Given the description of an element on the screen output the (x, y) to click on. 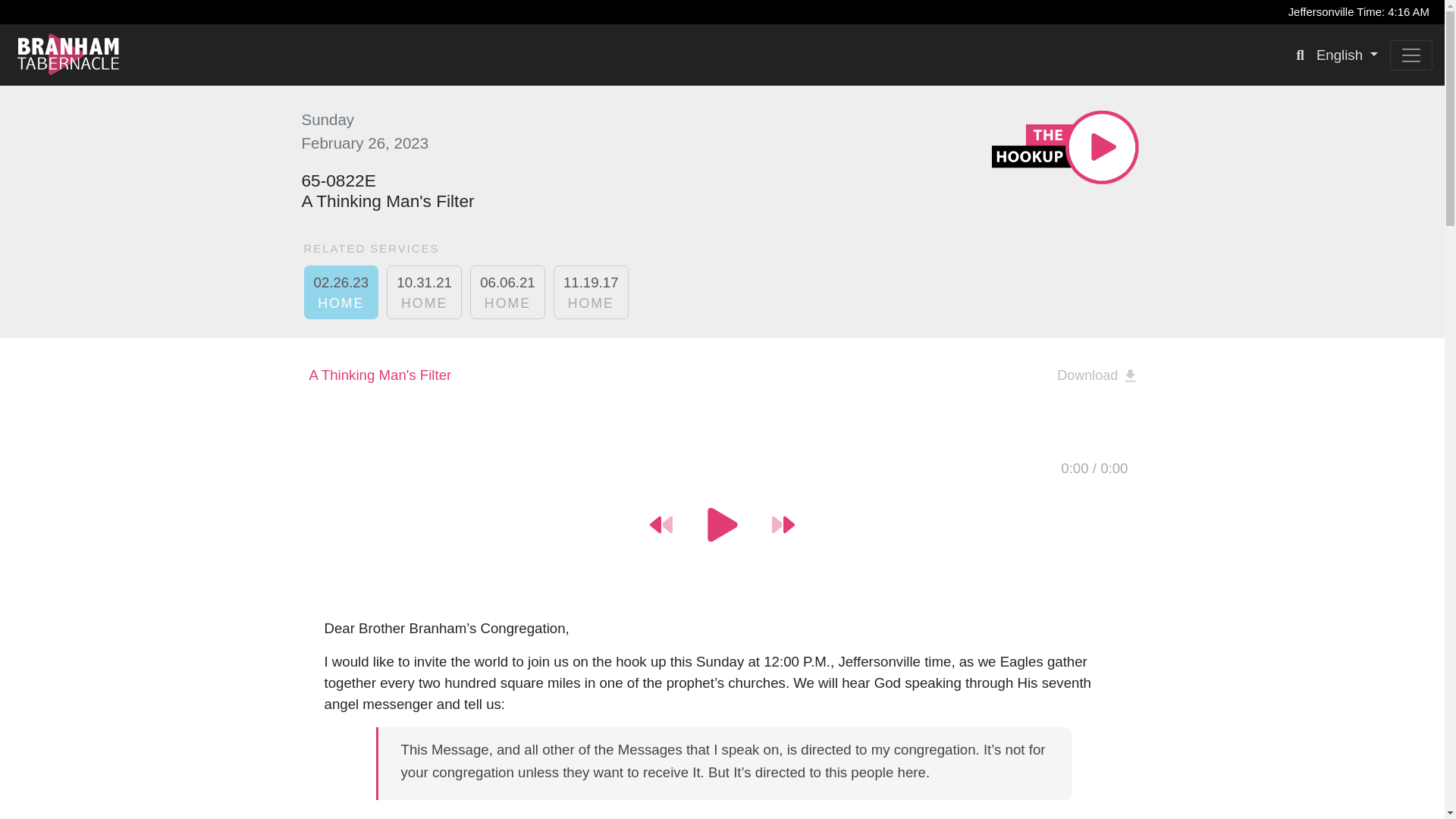
English (507, 292)
Download (340, 292)
Download   (1347, 55)
